Given the description of an element on the screen output the (x, y) to click on. 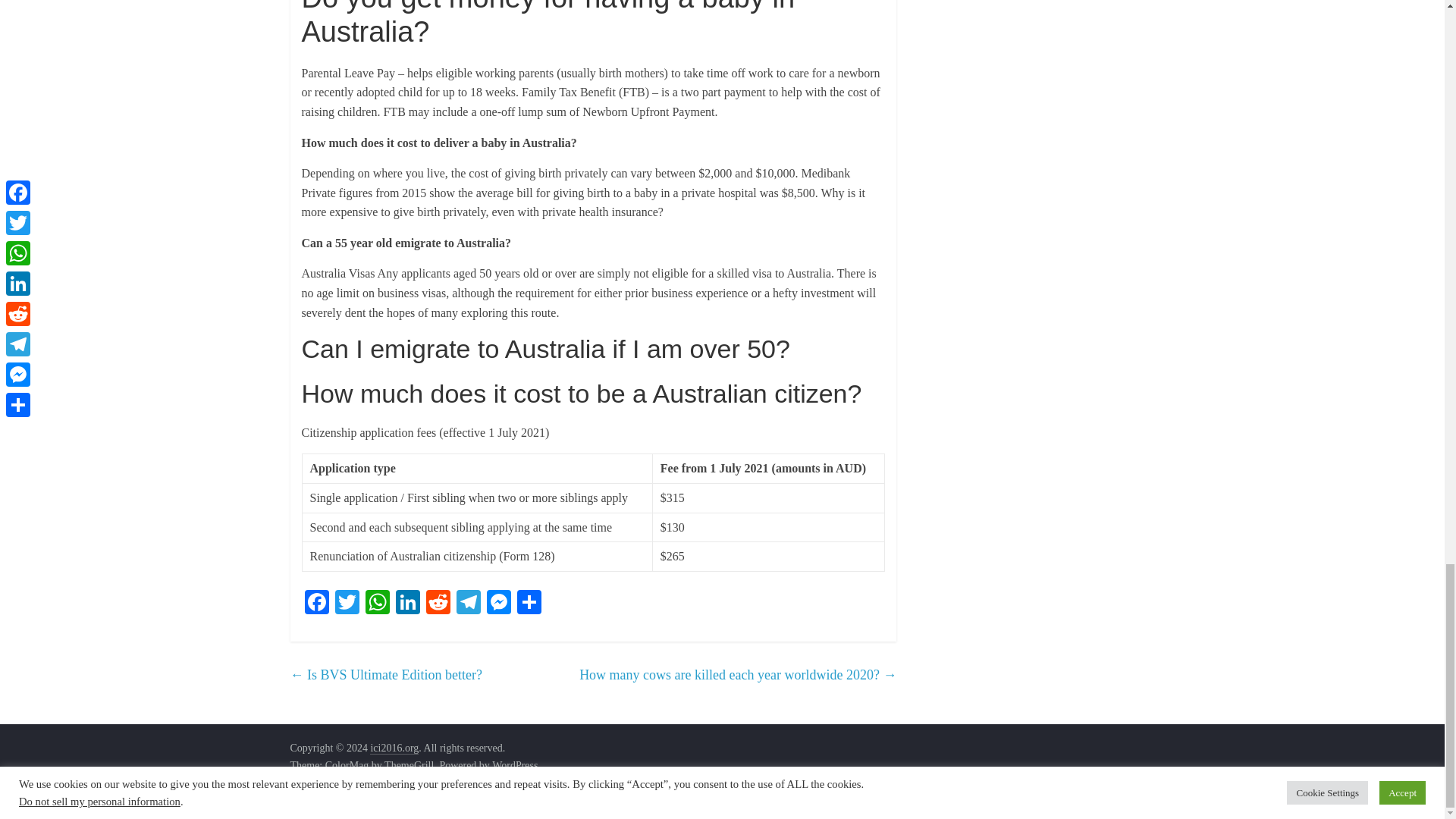
Reddit (437, 603)
Reddit (437, 603)
Messenger (498, 603)
Telegram (467, 603)
Messenger (498, 603)
Facebook (316, 603)
WhatsApp (377, 603)
WhatsApp (377, 603)
Facebook (316, 603)
LinkedIn (408, 603)
LinkedIn (408, 603)
Telegram (467, 603)
Twitter (346, 603)
Share (528, 603)
Twitter (346, 603)
